Given the description of an element on the screen output the (x, y) to click on. 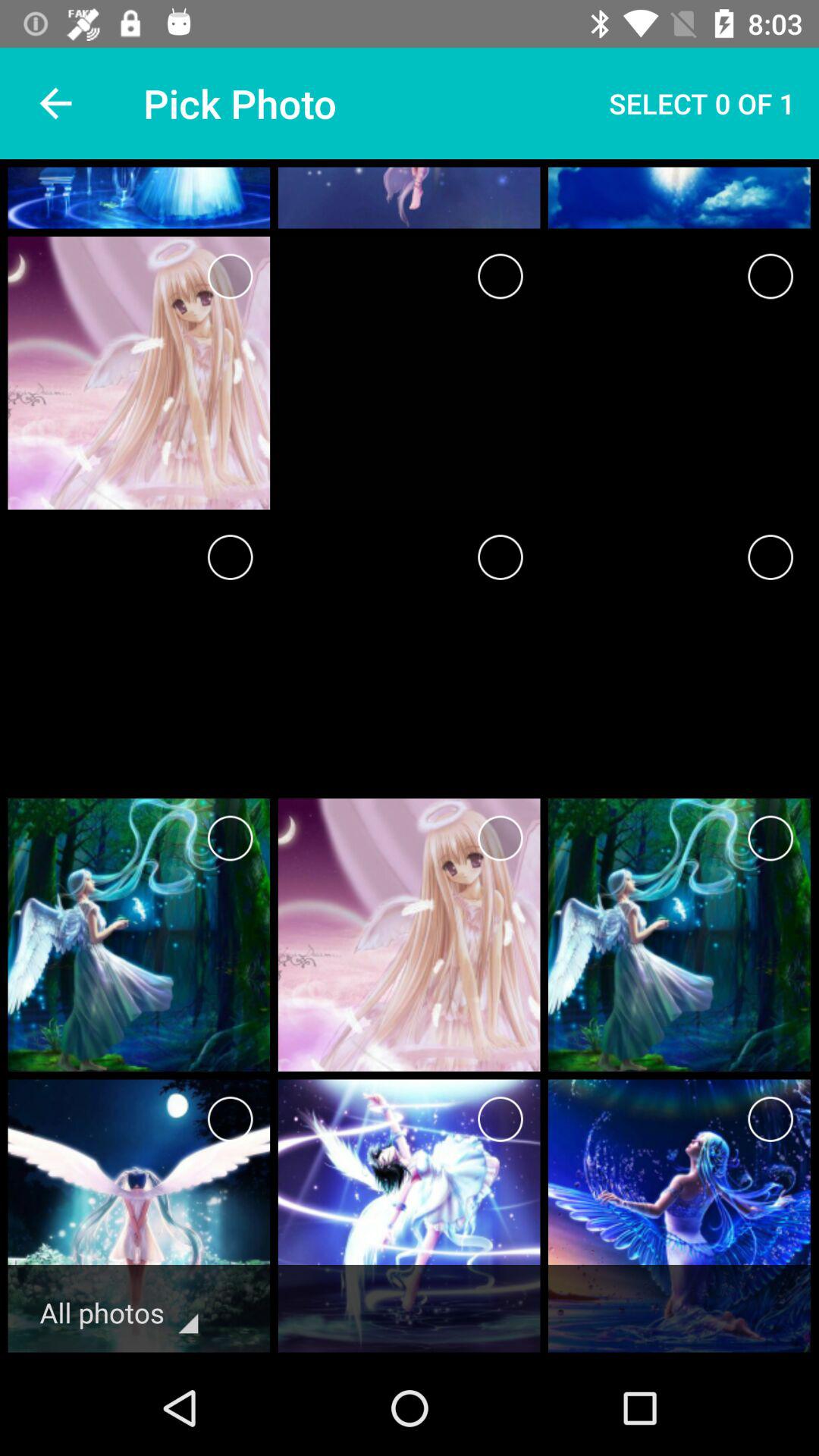
sekect that photo (770, 276)
